Given the description of an element on the screen output the (x, y) to click on. 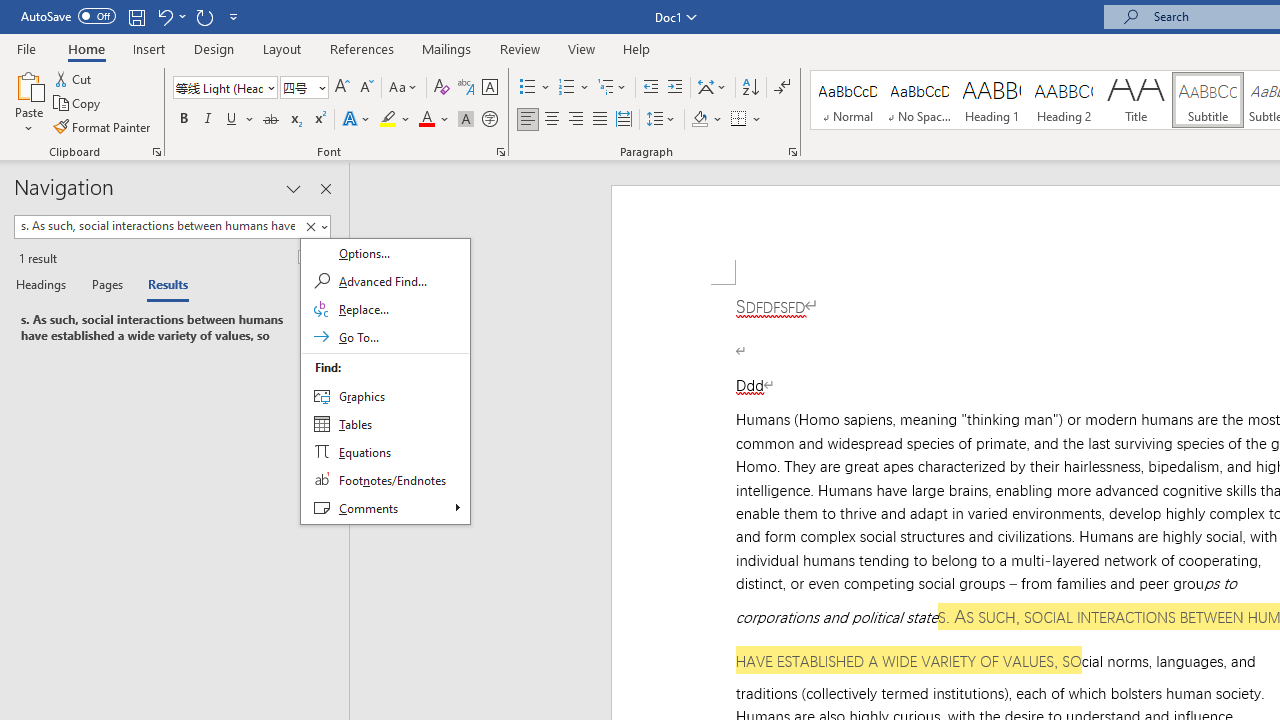
Shading (706, 119)
Format Painter (103, 126)
Shading RGB(0, 0, 0) (699, 119)
Show/Hide Editing Marks (781, 87)
Distributed (623, 119)
Multilevel List (613, 87)
Grow Font (342, 87)
